Given the description of an element on the screen output the (x, y) to click on. 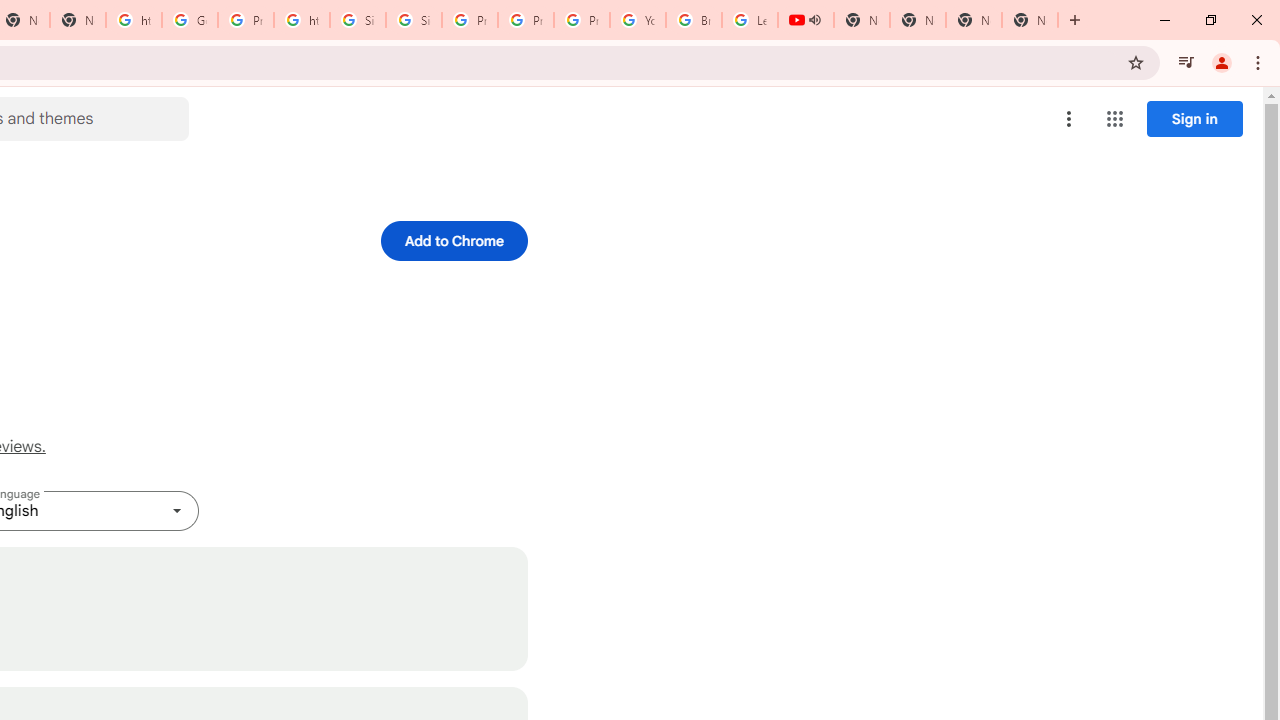
New Tab (1030, 20)
Sign in - Google Accounts (413, 20)
Privacy Help Center - Policies Help (525, 20)
New Tab (973, 20)
https://scholar.google.com/ (134, 20)
More options menu (1069, 118)
